Given the description of an element on the screen output the (x, y) to click on. 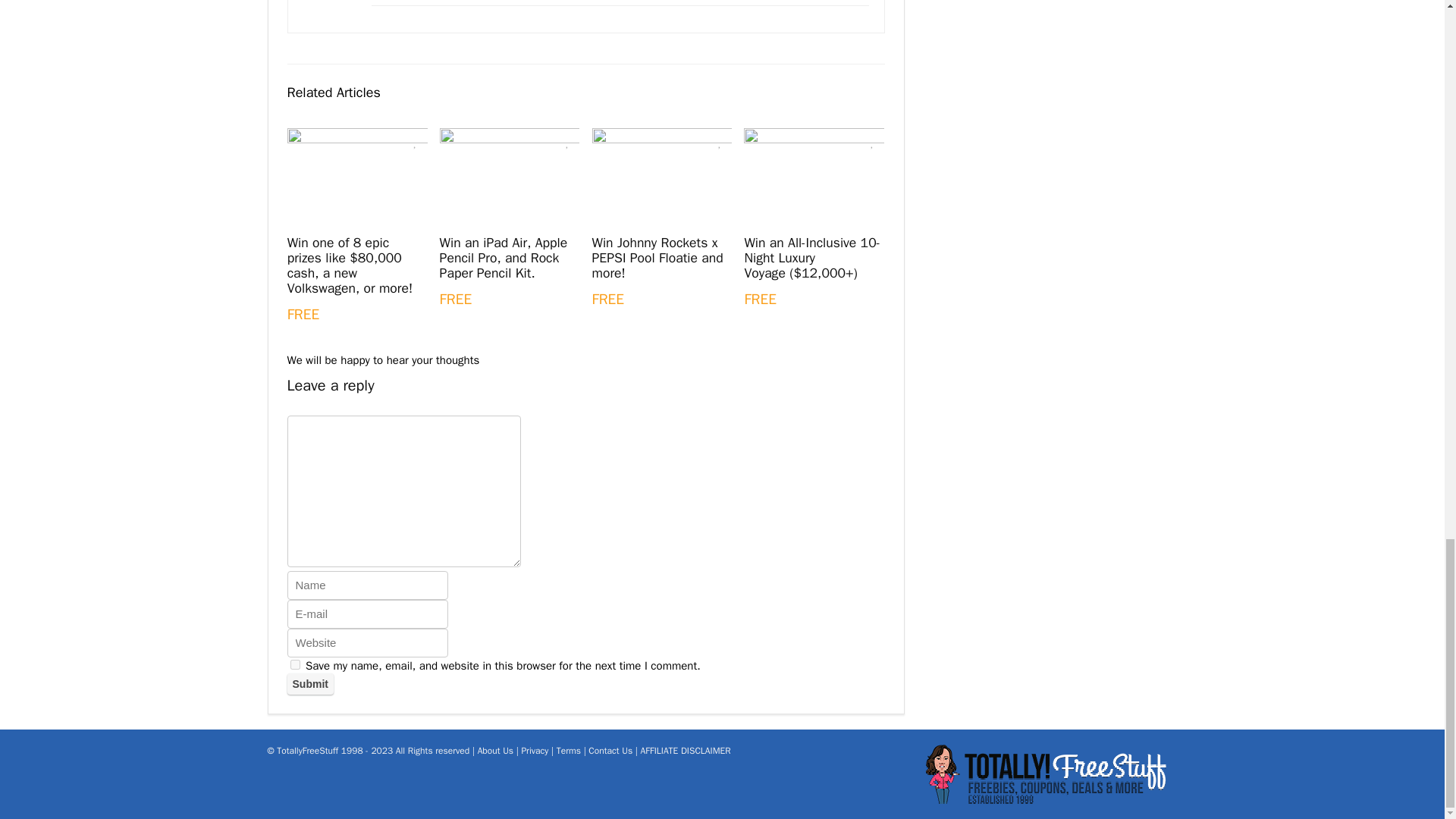
Submit (309, 683)
Submit (309, 683)
yes (294, 664)
Win Johnny Rockets x PEPSI Pool Floatie and more! (656, 257)
